Given the description of an element on the screen output the (x, y) to click on. 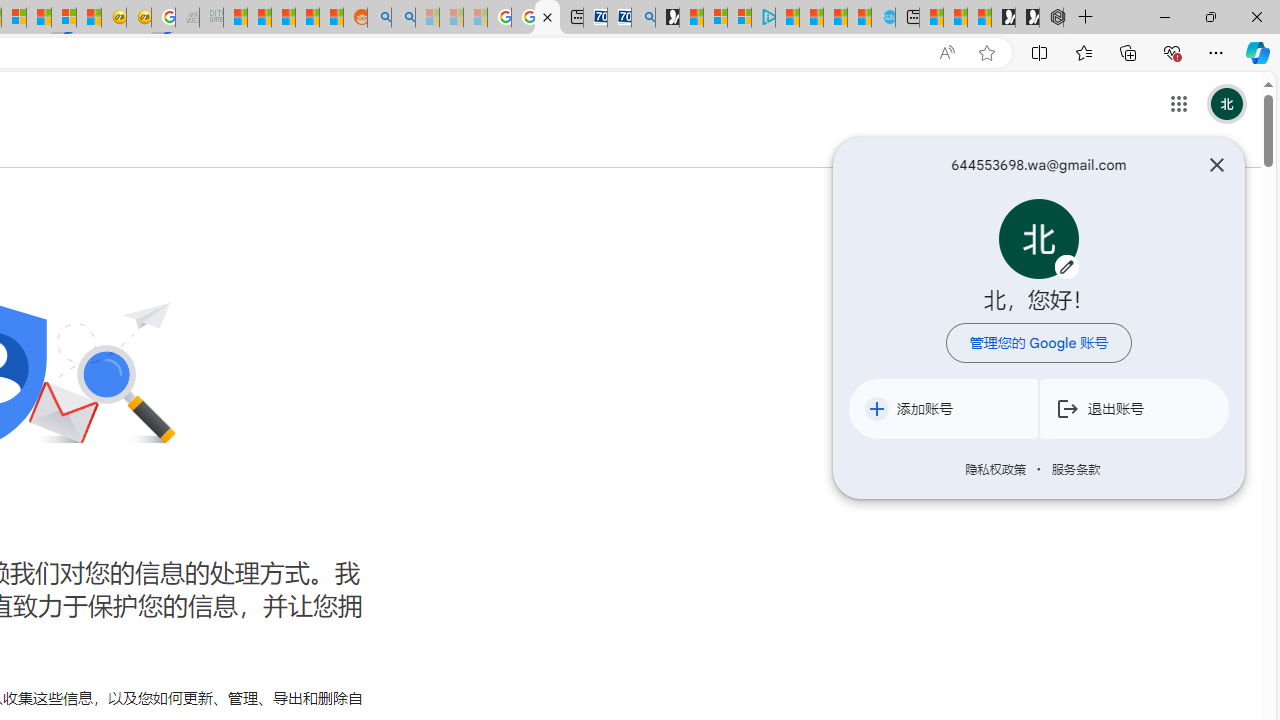
Student Loan Update: Forgiveness Program Ends This Month (306, 17)
Class: Q3ao0c (1038, 238)
